Given the description of an element on the screen output the (x, y) to click on. 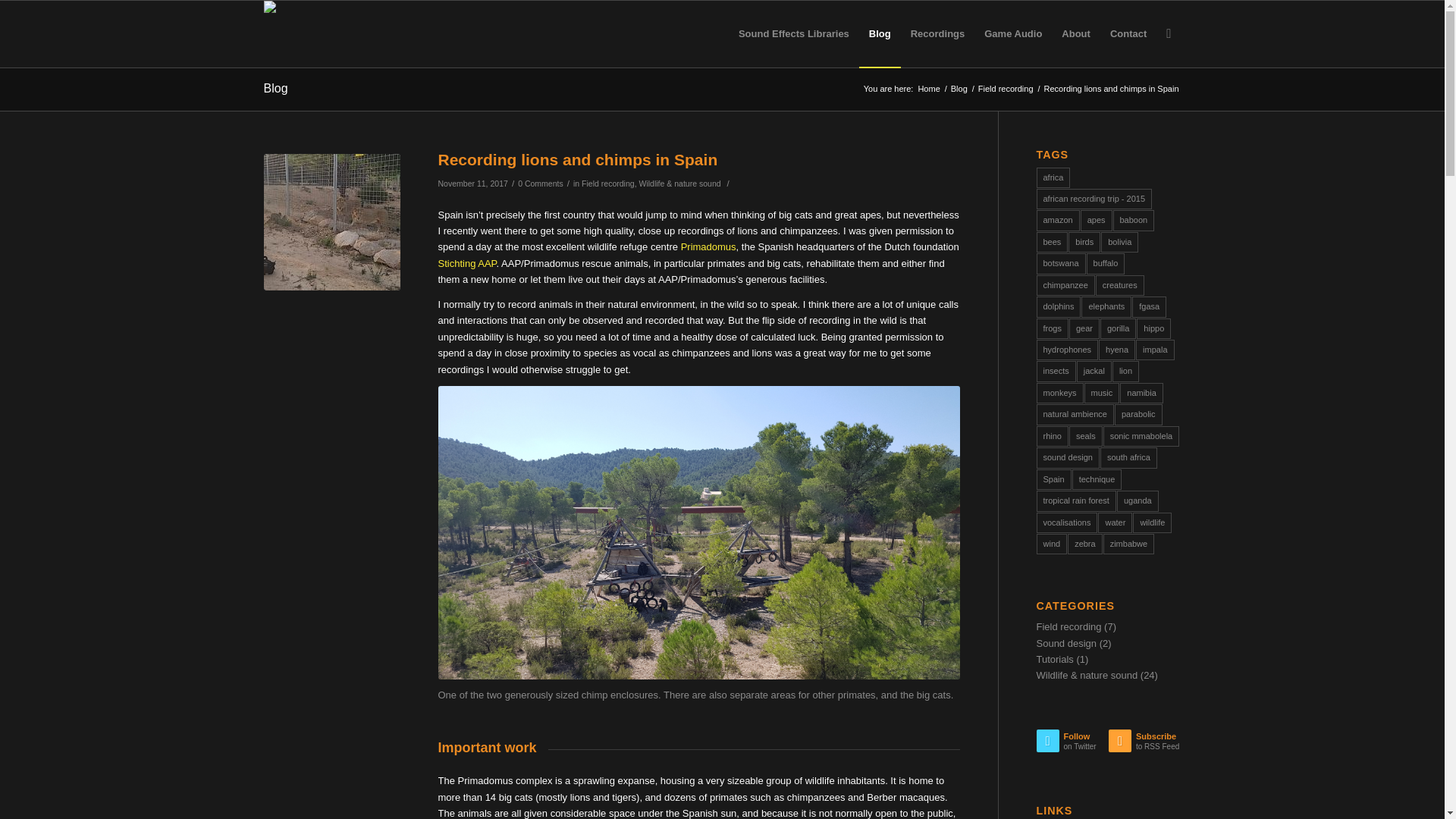
Recording lions and chimps in Spain (577, 159)
Sound Effects Libraries (794, 33)
0 Comments (540, 183)
Stichting AAP (467, 263)
Recording lions and chimps in Spain (331, 221)
Field recording (607, 183)
Permanent Link: Blog (275, 88)
Daan Hendriks (928, 89)
Blog (275, 88)
Blog (959, 89)
